Given the description of an element on the screen output the (x, y) to click on. 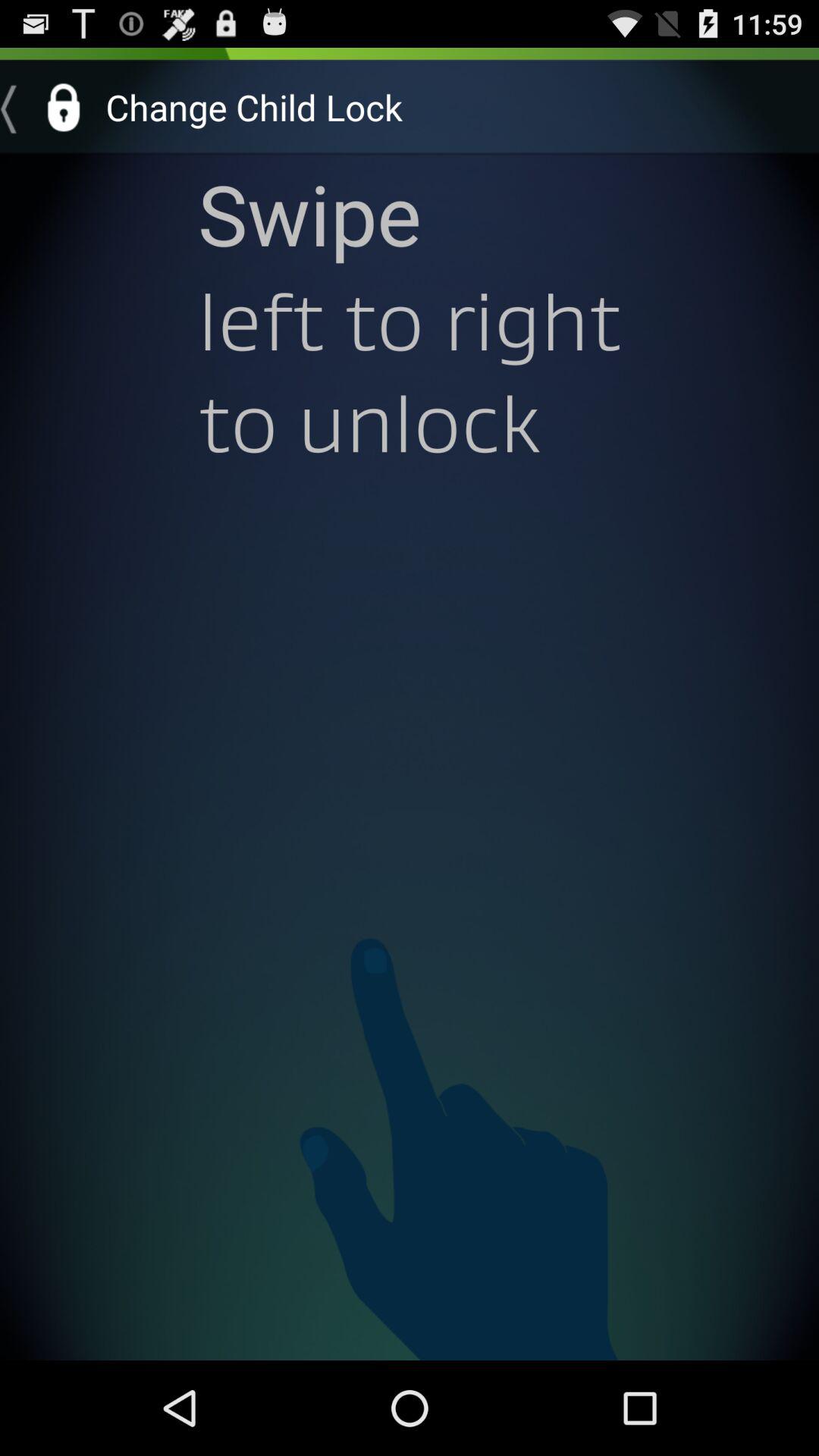
unlock (47, 107)
